Given the description of an element on the screen output the (x, y) to click on. 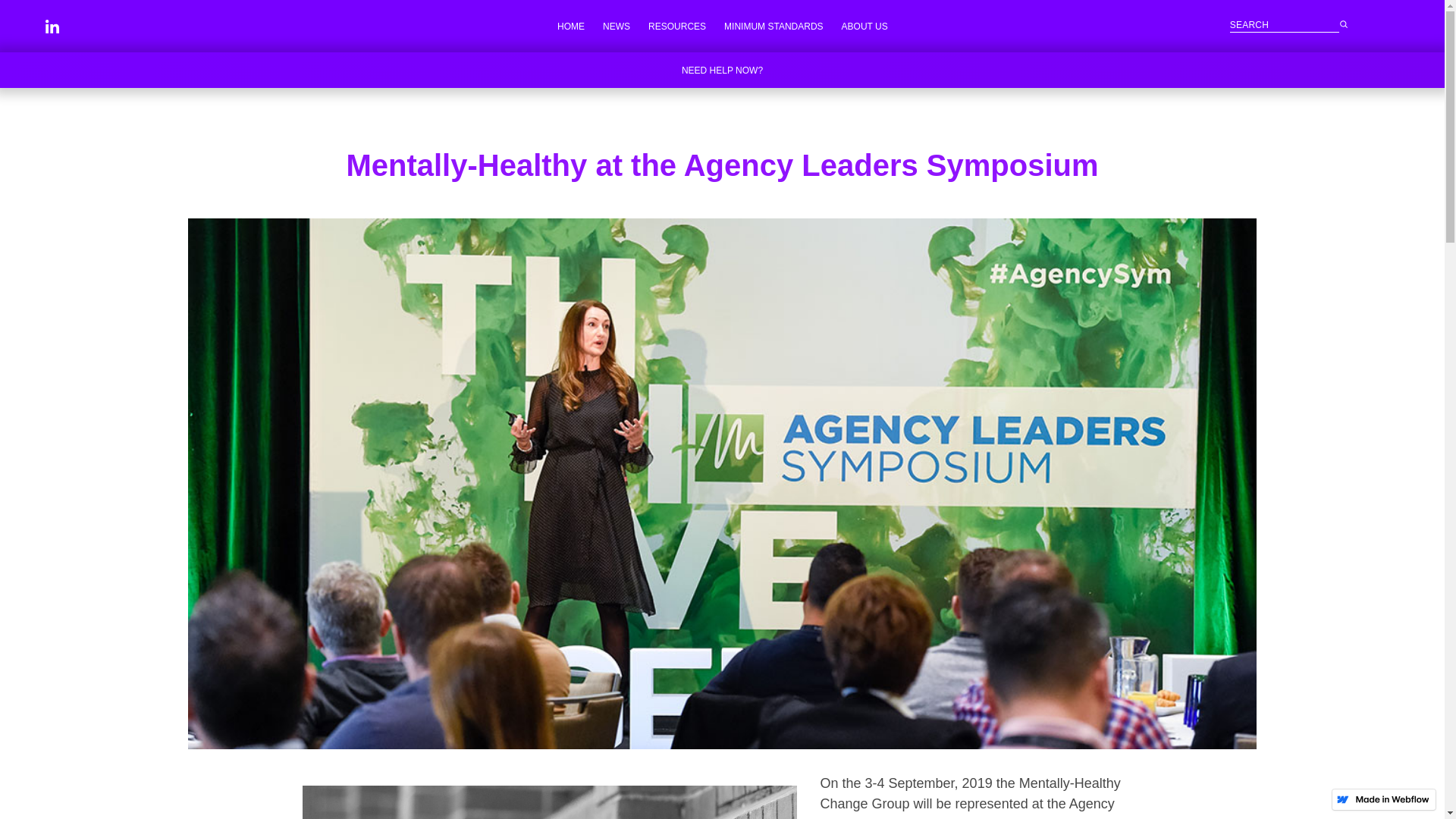
NEWS (616, 26)
ABOUT US (864, 26)
MINIMUM STANDARDS (772, 26)
NEED HELP NOW? (721, 70)
HOME (571, 26)
RESOURCES (676, 26)
